Given the description of an element on the screen output the (x, y) to click on. 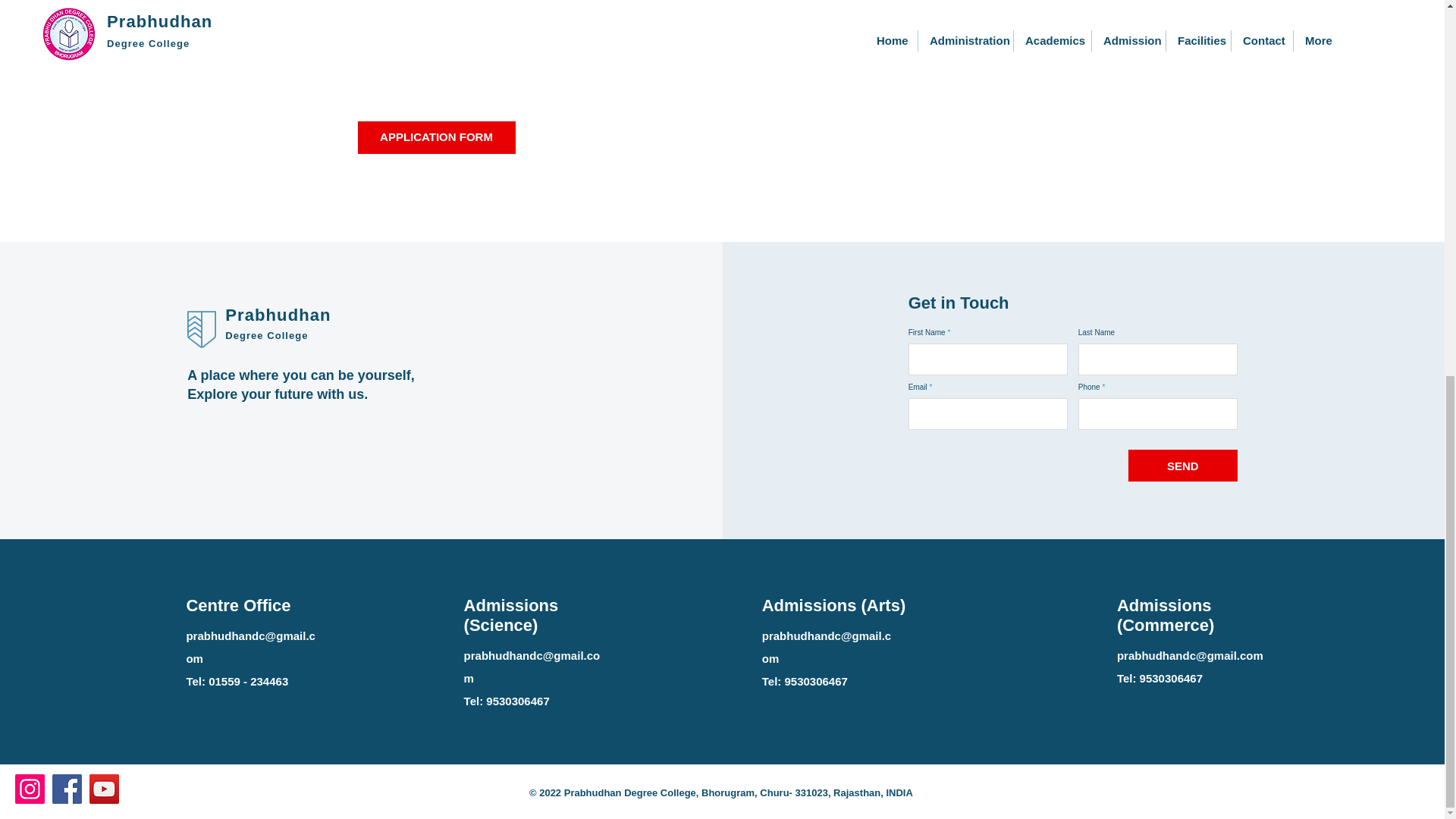
Degree College  (268, 335)
Prabhudhan (277, 314)
SEND (1182, 465)
APPLICATION FORM (436, 136)
Indian Art.jpeg (913, 9)
